Given the description of an element on the screen output the (x, y) to click on. 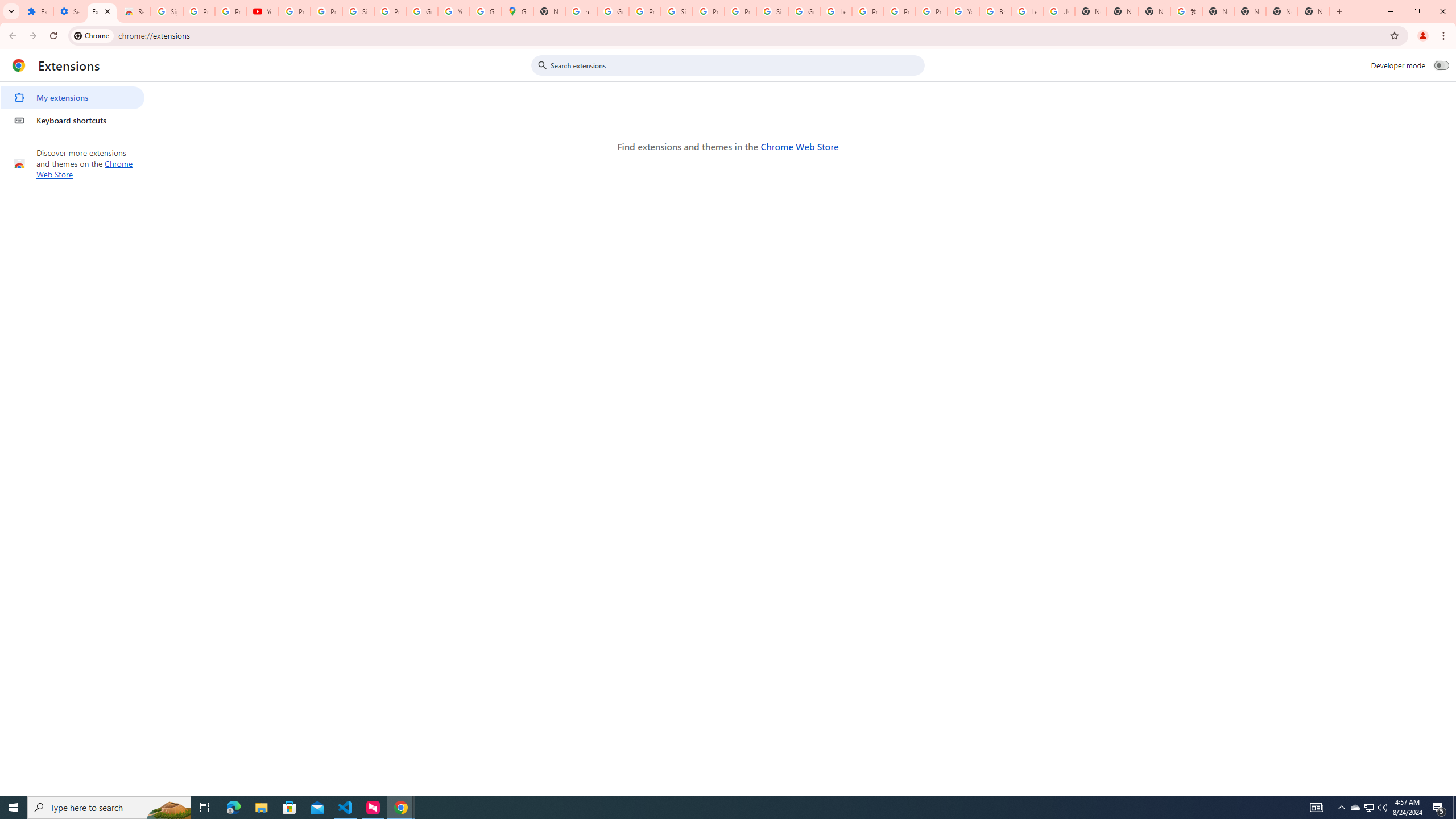
AutomationID: sectionMenu (72, 106)
Reviews: Helix Fruit Jump Arcade Game (134, 11)
Chrome Web Store (799, 146)
My extensions (72, 97)
YouTube (453, 11)
Search extensions (735, 65)
https://scholar.google.com/ (581, 11)
